Given the description of an element on the screen output the (x, y) to click on. 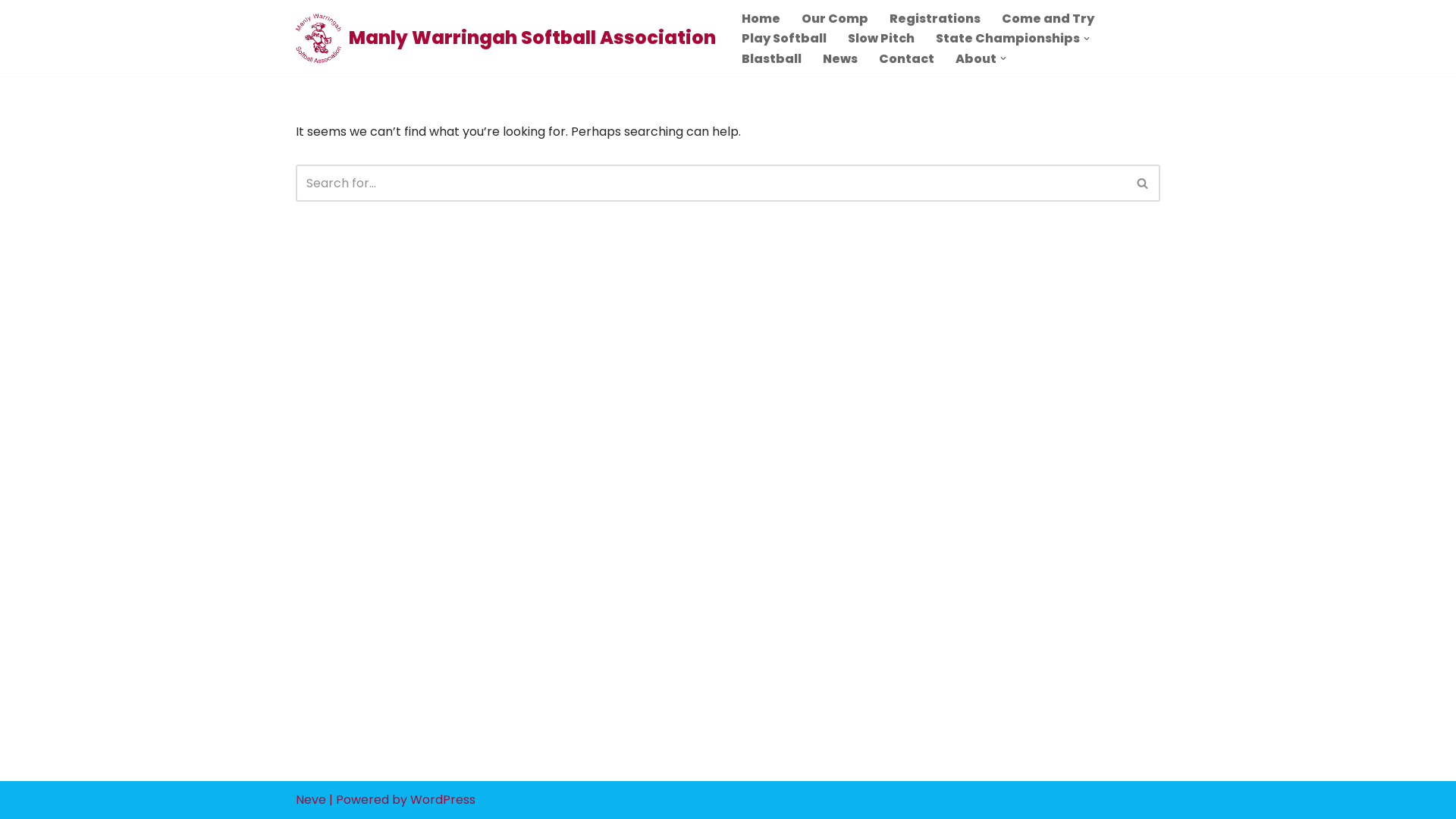
Registrations Element type: text (934, 18)
Skip to content Element type: text (11, 31)
Contact Element type: text (906, 58)
Manly Warringah Softball Association Element type: text (505, 37)
About Element type: text (975, 58)
WordPress Element type: text (442, 799)
Home Element type: text (760, 18)
News Element type: text (839, 58)
Neve Element type: text (310, 799)
Play Softball Element type: text (783, 38)
Come and Try Element type: text (1047, 18)
State Championships Element type: text (1007, 38)
Blastball Element type: text (771, 58)
Slow Pitch Element type: text (880, 38)
Our Comp Element type: text (834, 18)
